Given the description of an element on the screen output the (x, y) to click on. 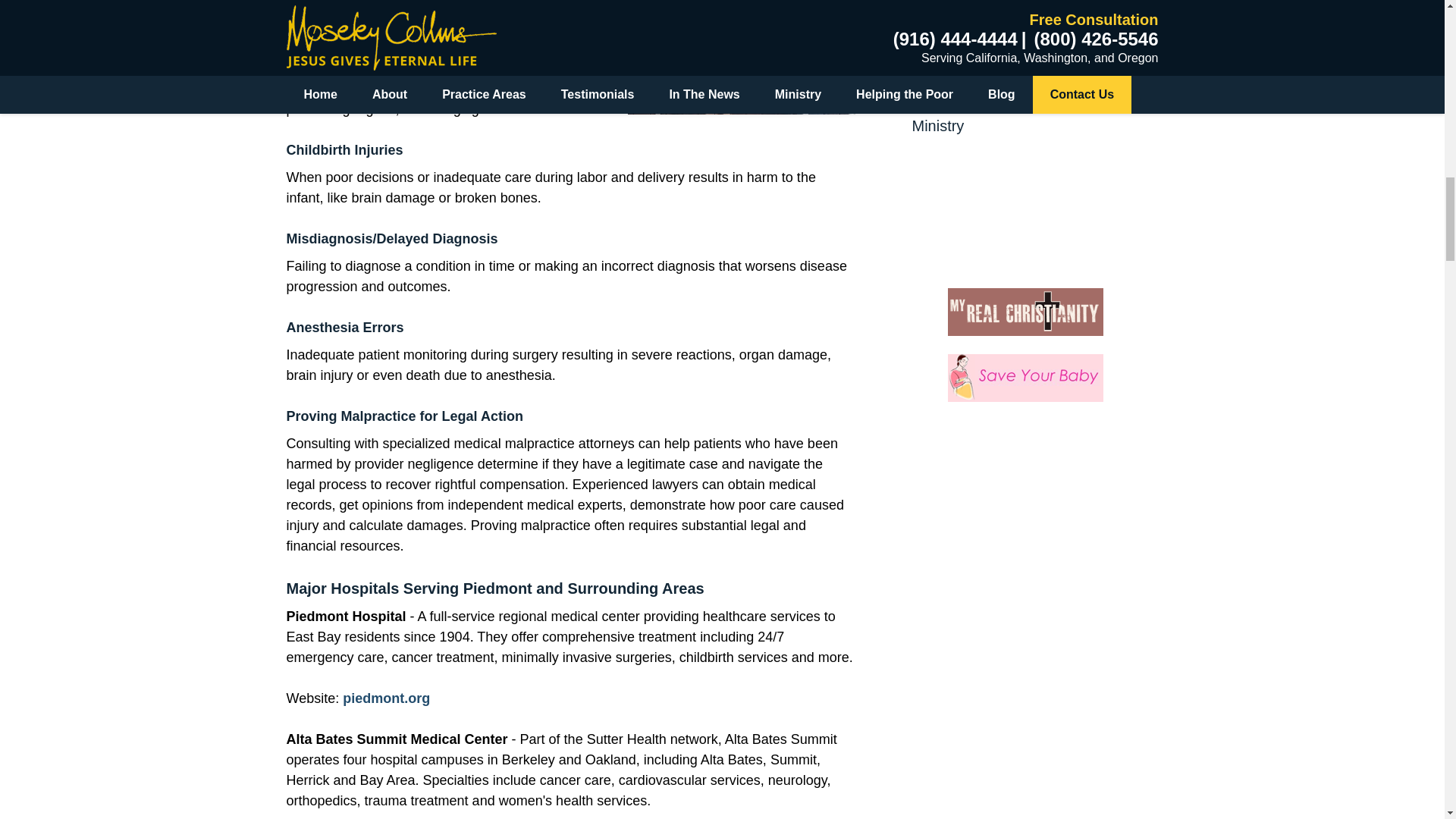
piedmont.org (385, 698)
